Given the description of an element on the screen output the (x, y) to click on. 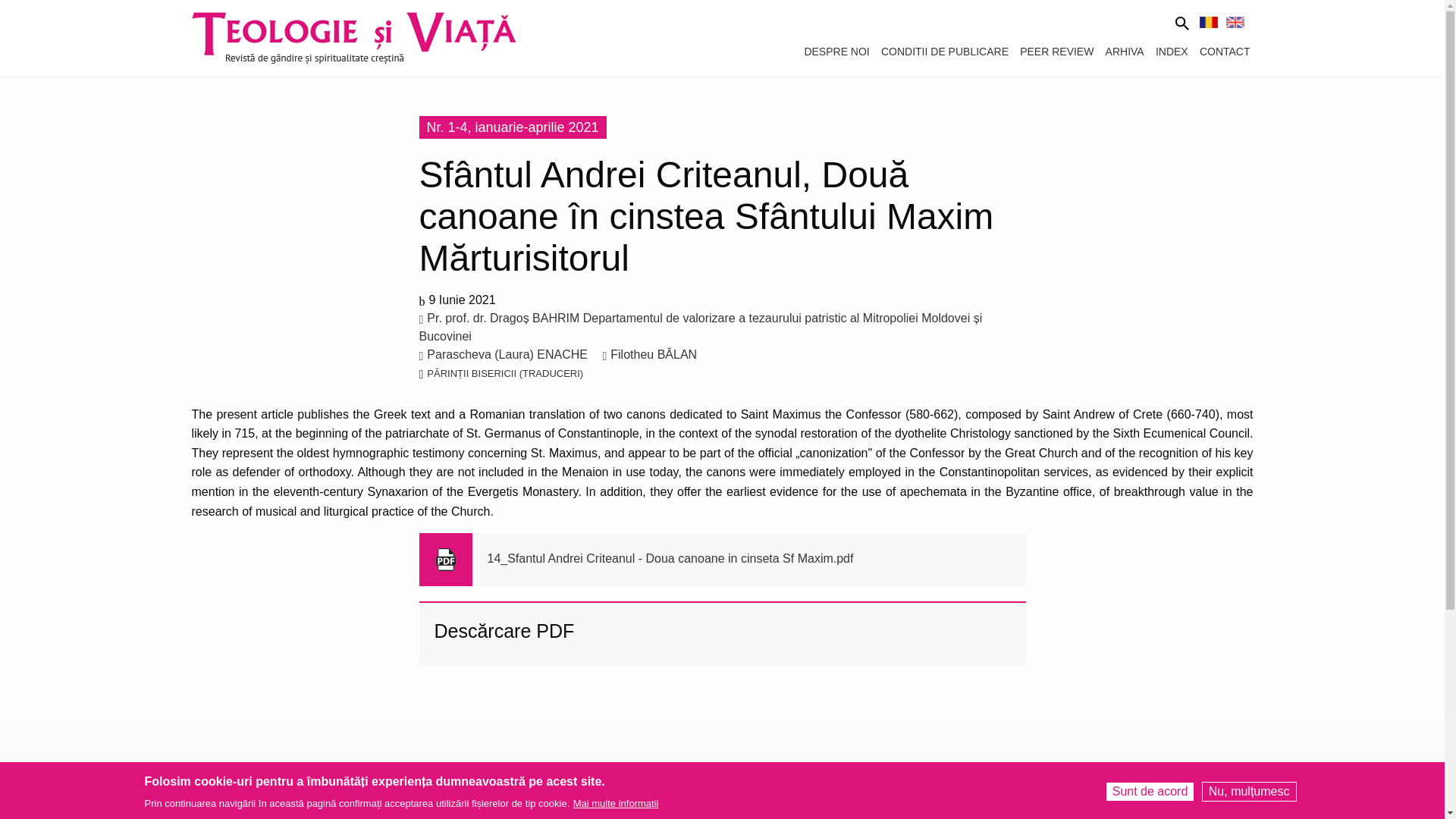
PEER REVIEW (1053, 51)
Romanian (1208, 21)
INDEX (1169, 51)
DESPRE NOI (833, 51)
CONTACT (1222, 51)
Nr. 1-4, ianuarie-aprilie 2021 (512, 127)
English (1234, 21)
ARHIVA (1121, 51)
CONDITII DE PUBLICARE (941, 51)
